Given the description of an element on the screen output the (x, y) to click on. 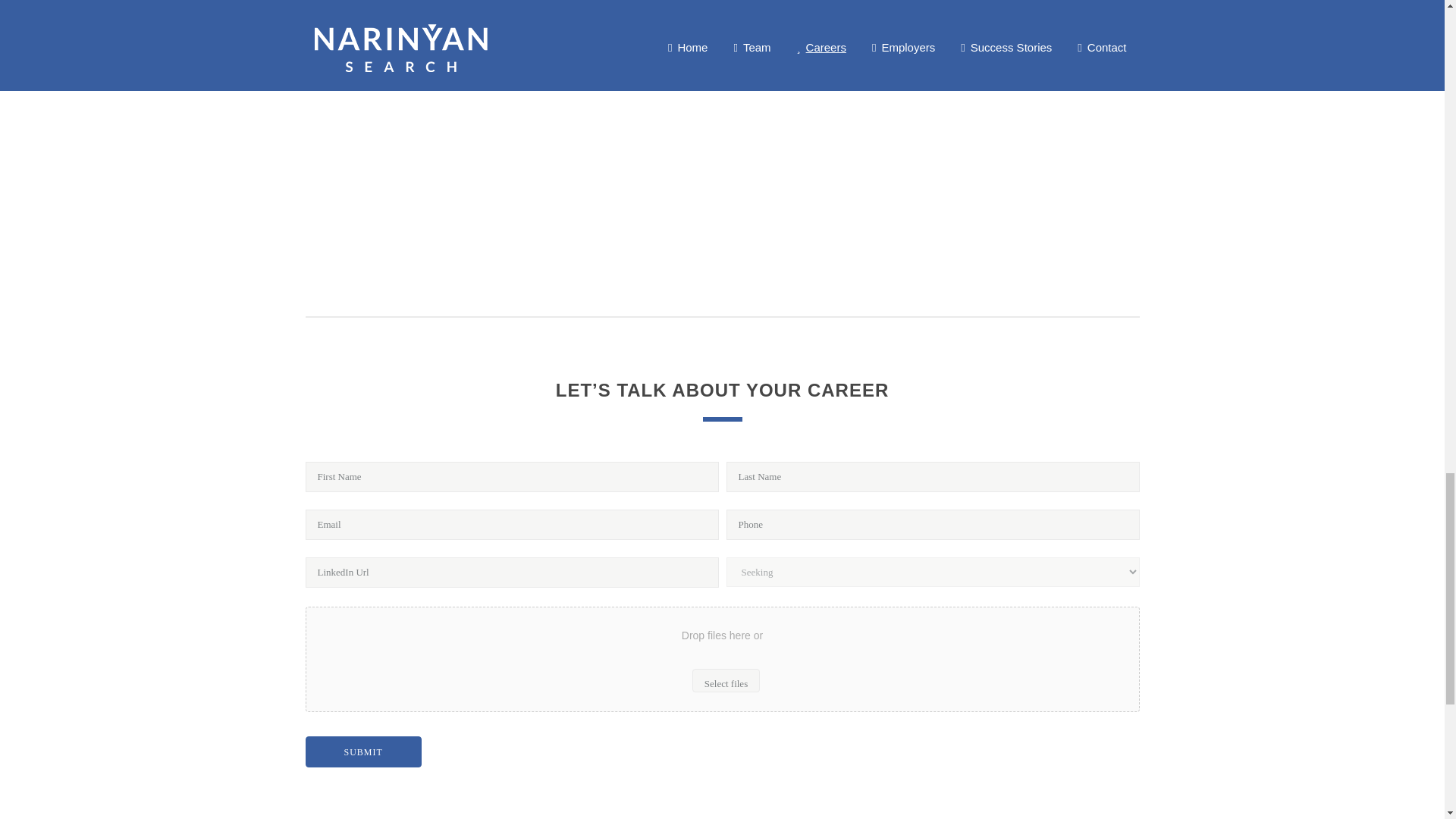
Submit (362, 751)
Submit (362, 751)
Select files (726, 680)
